Given the description of an element on the screen output the (x, y) to click on. 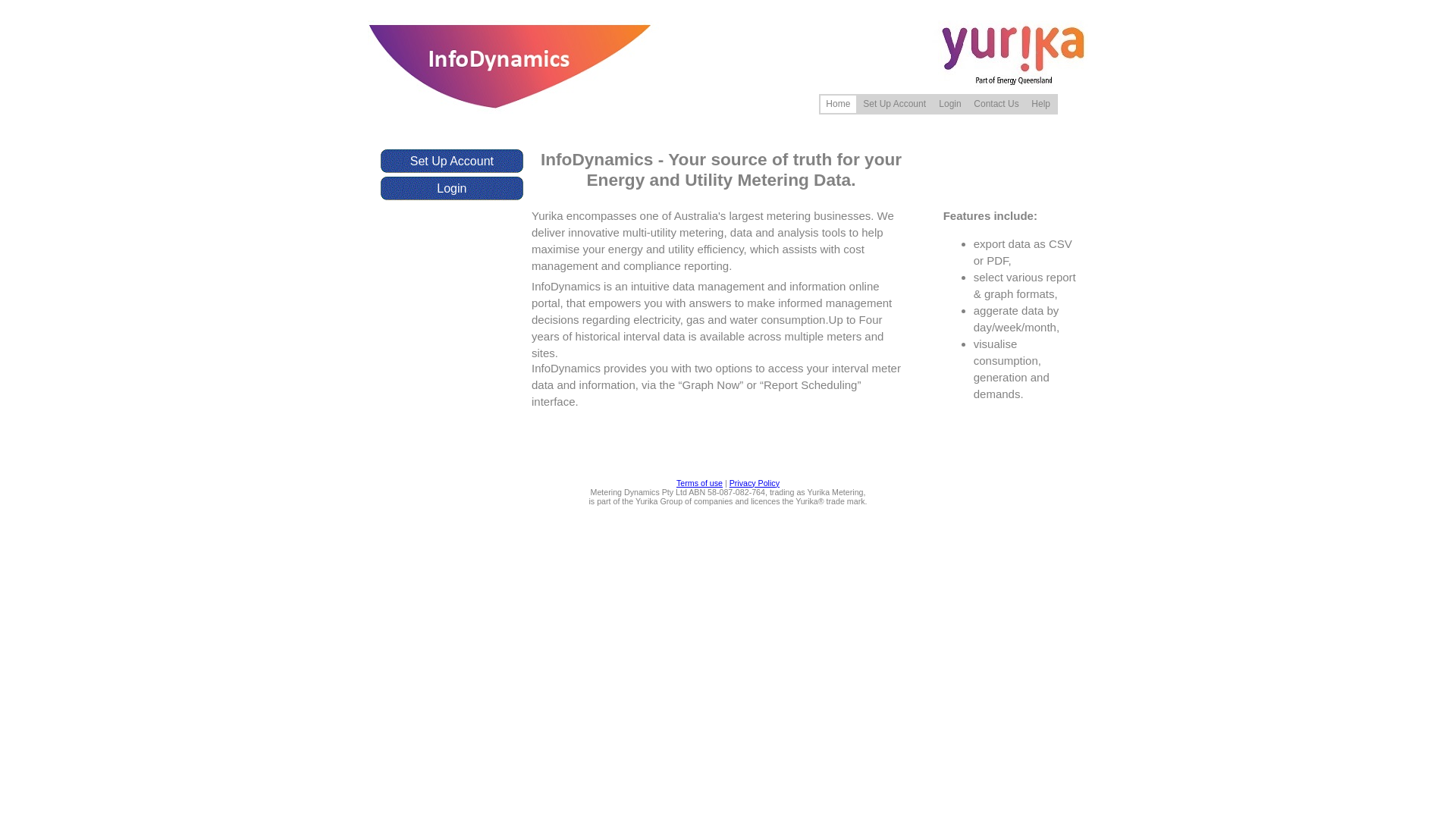
Help Element type: text (1040, 103)
Login Element type: text (949, 103)
Terms of use Element type: text (699, 482)
Privacy Policy Element type: text (754, 482)
Set Up Account Element type: text (894, 103)
Contact Us Element type: text (995, 103)
